Given the description of an element on the screen output the (x, y) to click on. 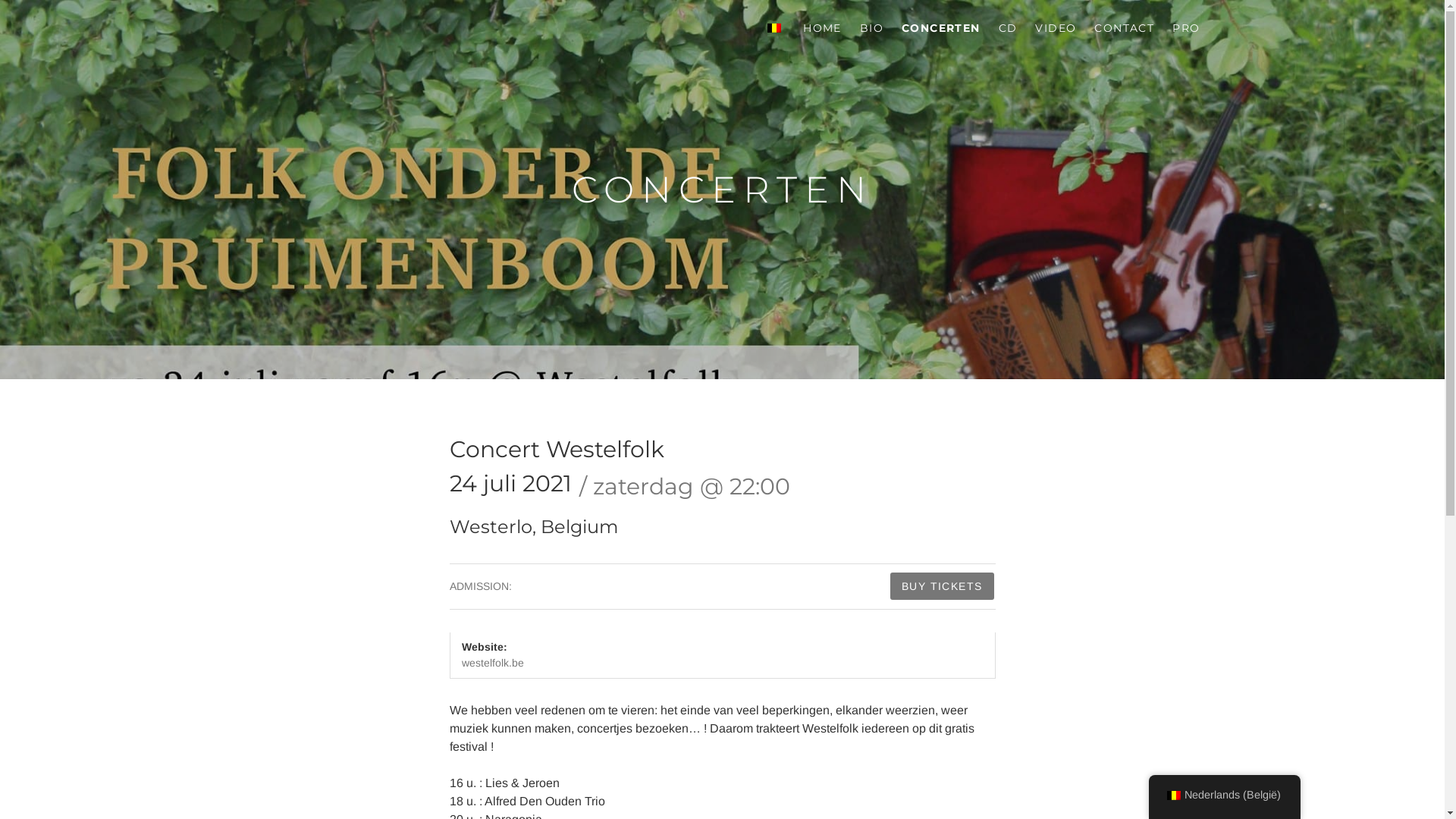
BUY TICKETS Element type: text (941, 585)
VIDEO Element type: text (1055, 28)
CD Element type: text (1008, 28)
CONCERTEN Element type: text (941, 28)
CONTACT Element type: text (1123, 28)
HOME Element type: text (822, 28)
PRO Element type: text (1185, 28)
BIO Element type: text (871, 28)
westelfolk.be Element type: text (492, 662)
